Given the description of an element on the screen output the (x, y) to click on. 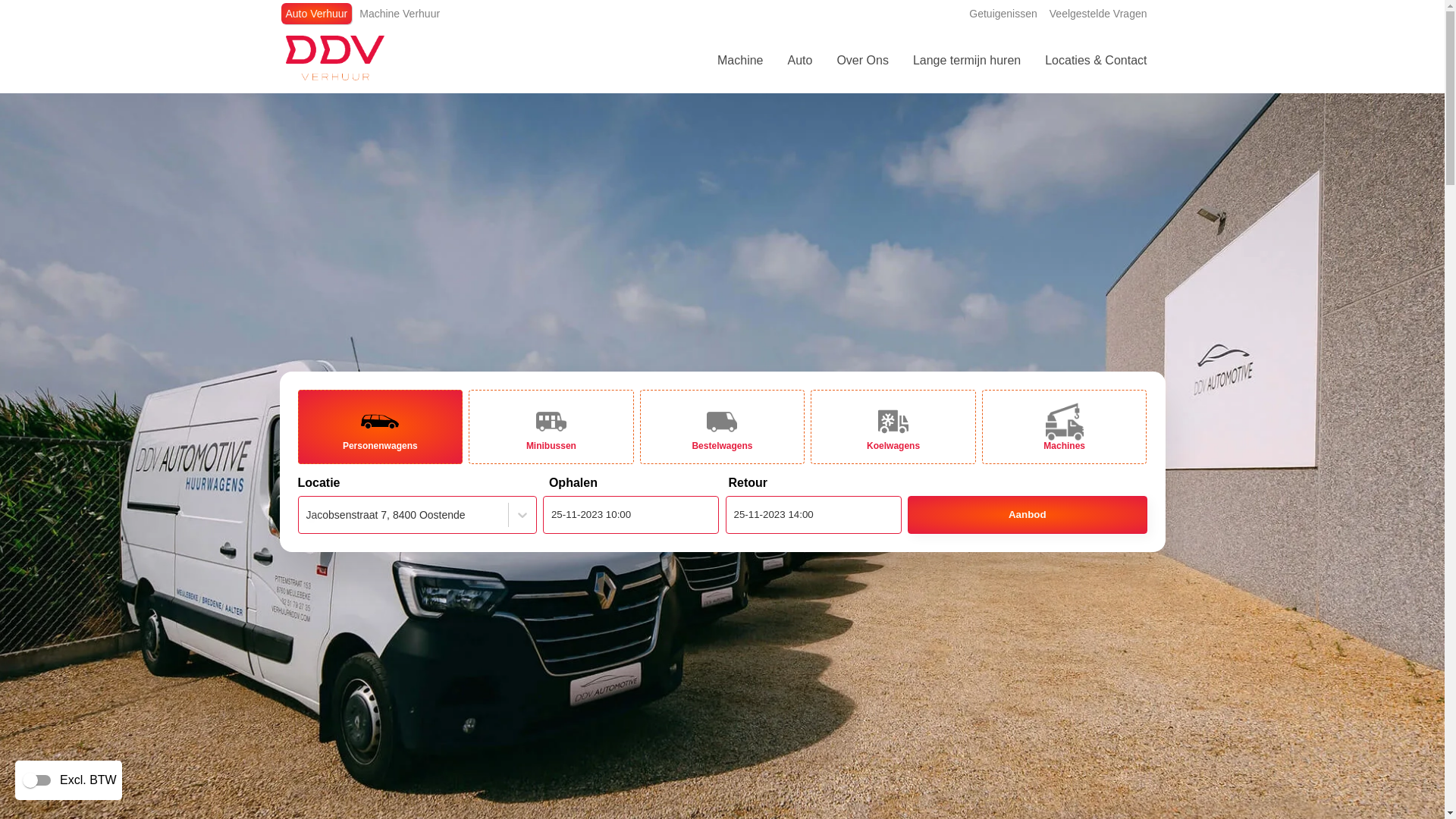
Lange termijn huren Element type: text (966, 59)
Machine Verhuur Element type: text (399, 13)
Auto Element type: text (799, 60)
Getuigenissen Element type: text (1003, 13)
Veelgestelde Vragen Element type: text (1098, 13)
Locaties & Contact Element type: text (1095, 59)
Aanbod Element type: text (1026, 514)
Machine Element type: text (740, 60)
Auto Verhuur Element type: text (315, 13)
Over Ons Element type: text (862, 59)
